Given the description of an element on the screen output the (x, y) to click on. 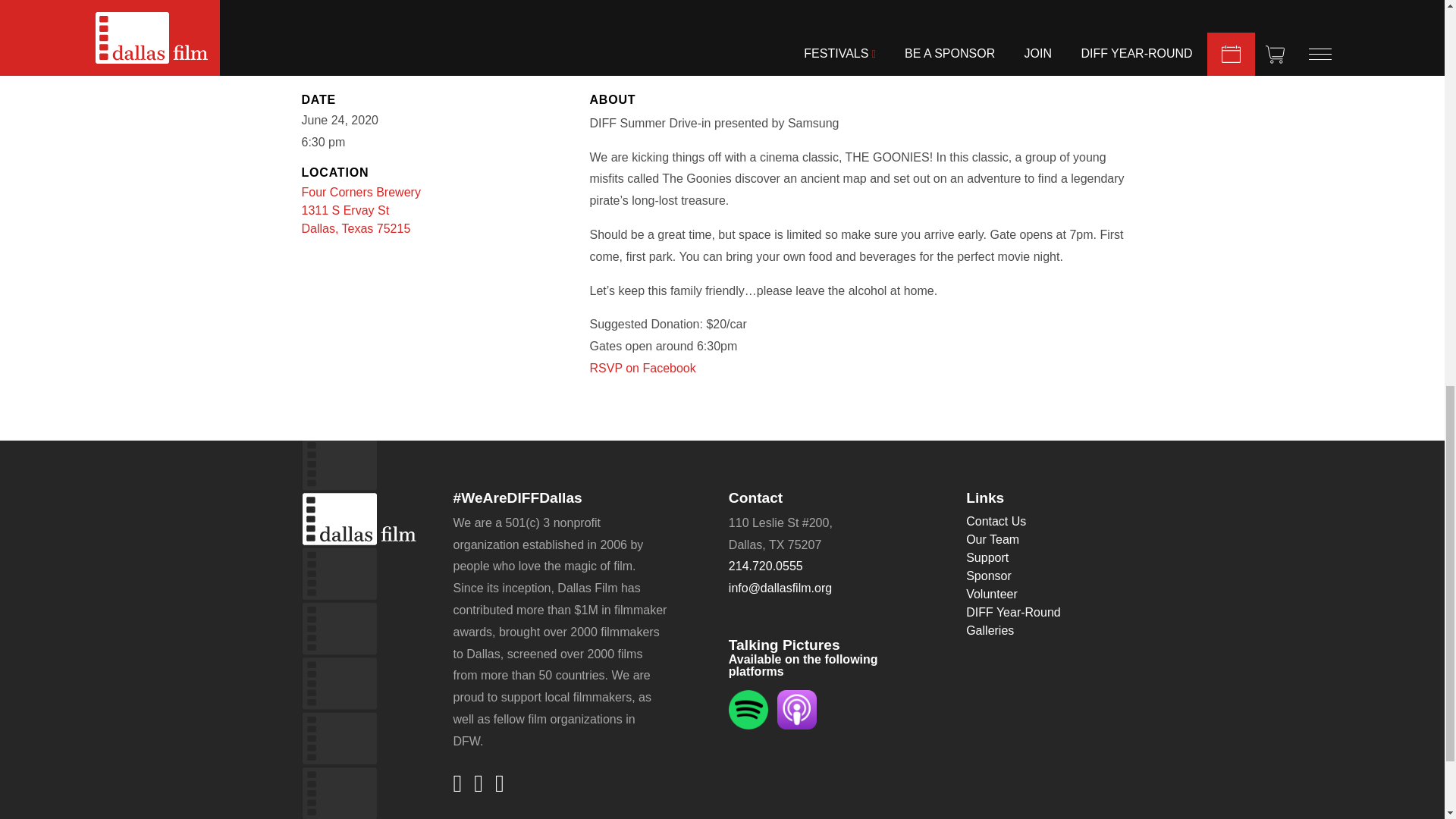
214.720.0555 (766, 565)
RSVP on Facebook (360, 210)
Listen to Talking Pictures on Spotify (642, 367)
Listen to Talking Pictures on Apple Podcasts (748, 707)
